Given the description of an element on the screen output the (x, y) to click on. 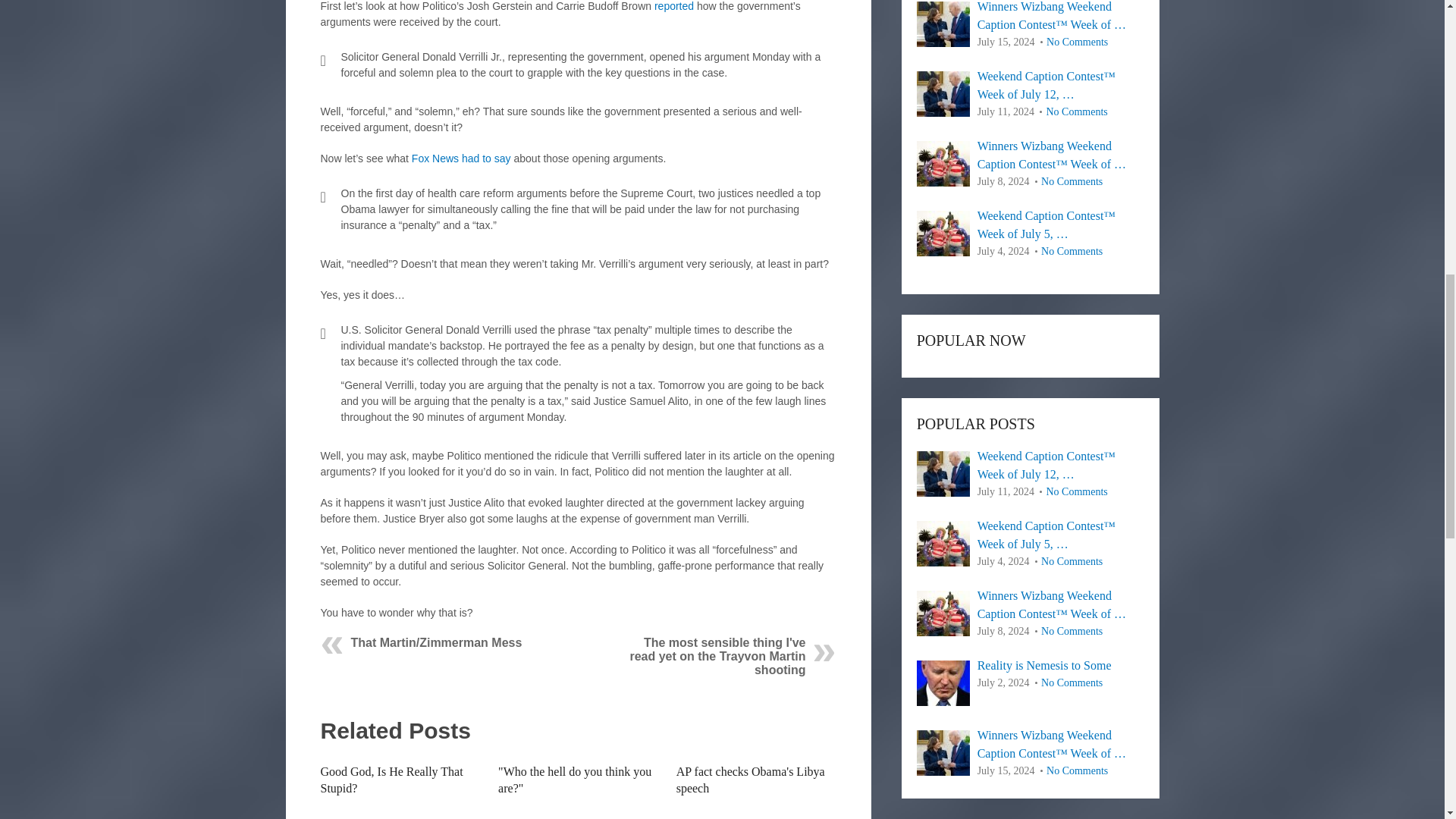
AP fact checks Obama's Libya speech (751, 779)
"Who the hell do you think you are?" (573, 779)
Good God, Is He Really That Stupid? (391, 779)
Fox News had to say (461, 158)
reported (673, 6)
Good God, Is He Really That Stupid? (391, 779)
"Who the hell do you think you are?" (573, 779)
